Given the description of an element on the screen output the (x, y) to click on. 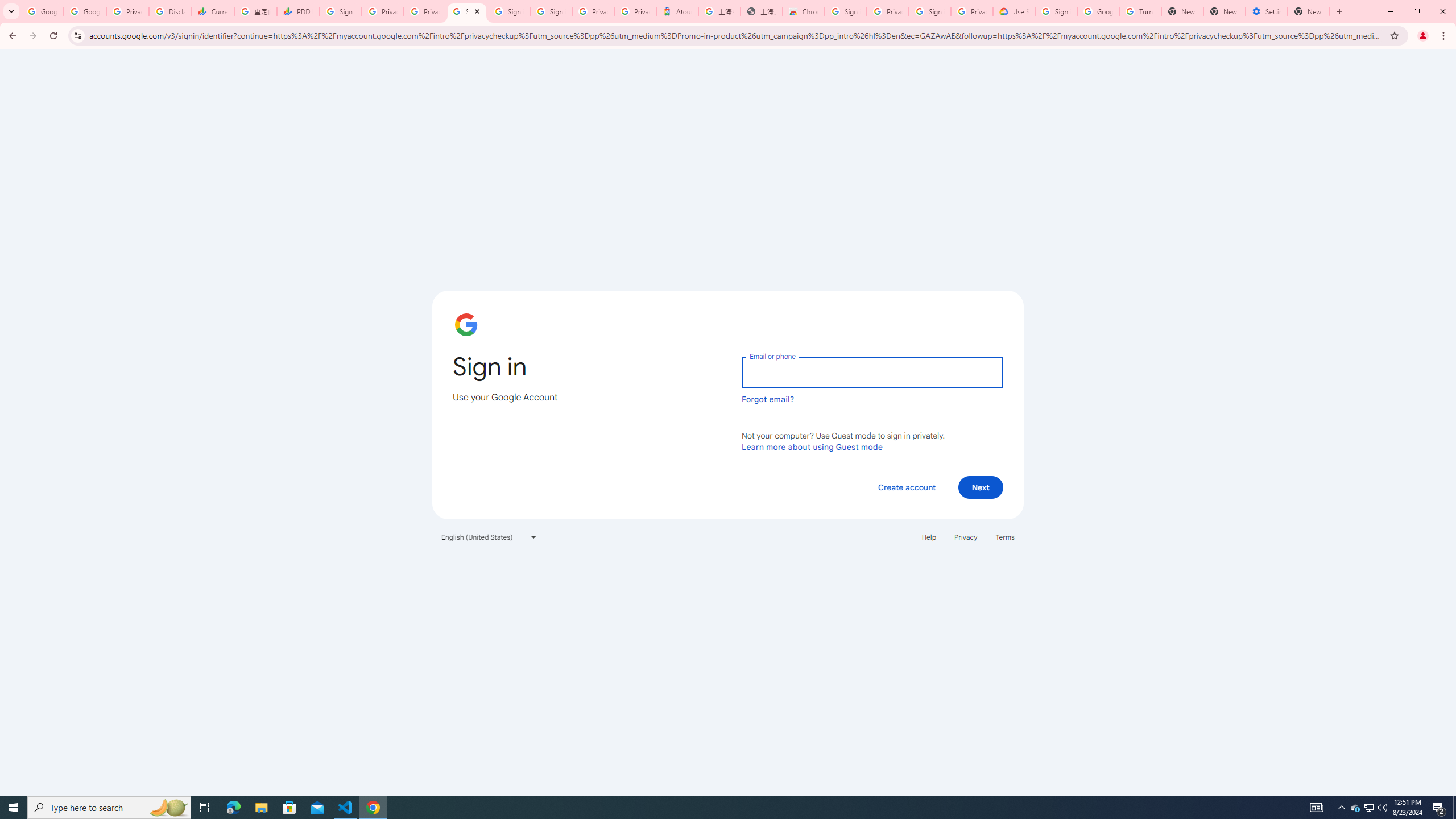
New Tab (1308, 11)
Email or phone (871, 372)
Currencies - Google Finance (212, 11)
Sign in - Google Accounts (340, 11)
English (United States) (489, 536)
Google Account Help (1097, 11)
